Given the description of an element on the screen output the (x, y) to click on. 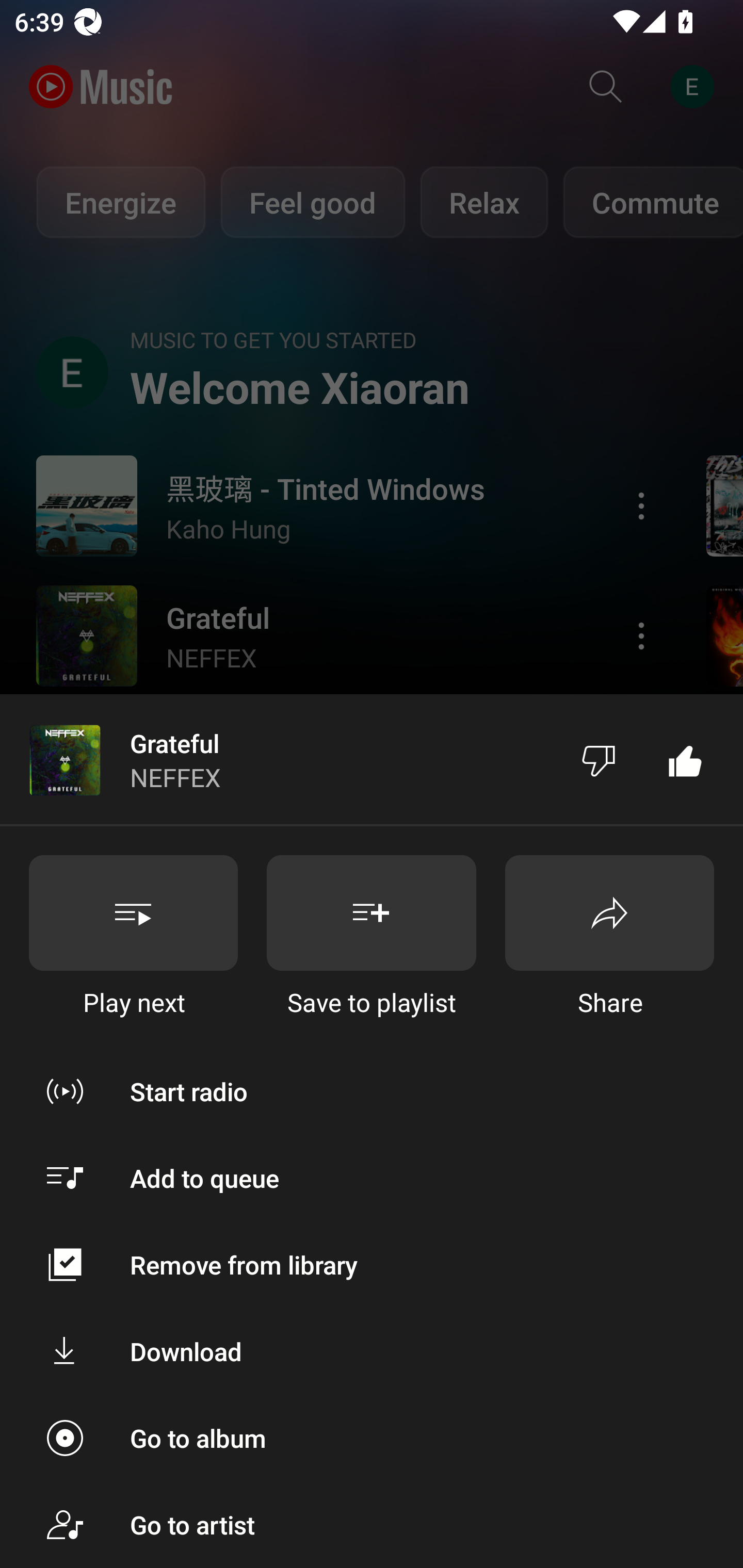
Dislike (598, 759)
Undo like (684, 759)
Start radio (371, 1091)
Add to queue (371, 1178)
Remove from library (371, 1264)
Download (371, 1350)
Go to album (371, 1437)
Go to artist (371, 1524)
